Given the description of an element on the screen output the (x, y) to click on. 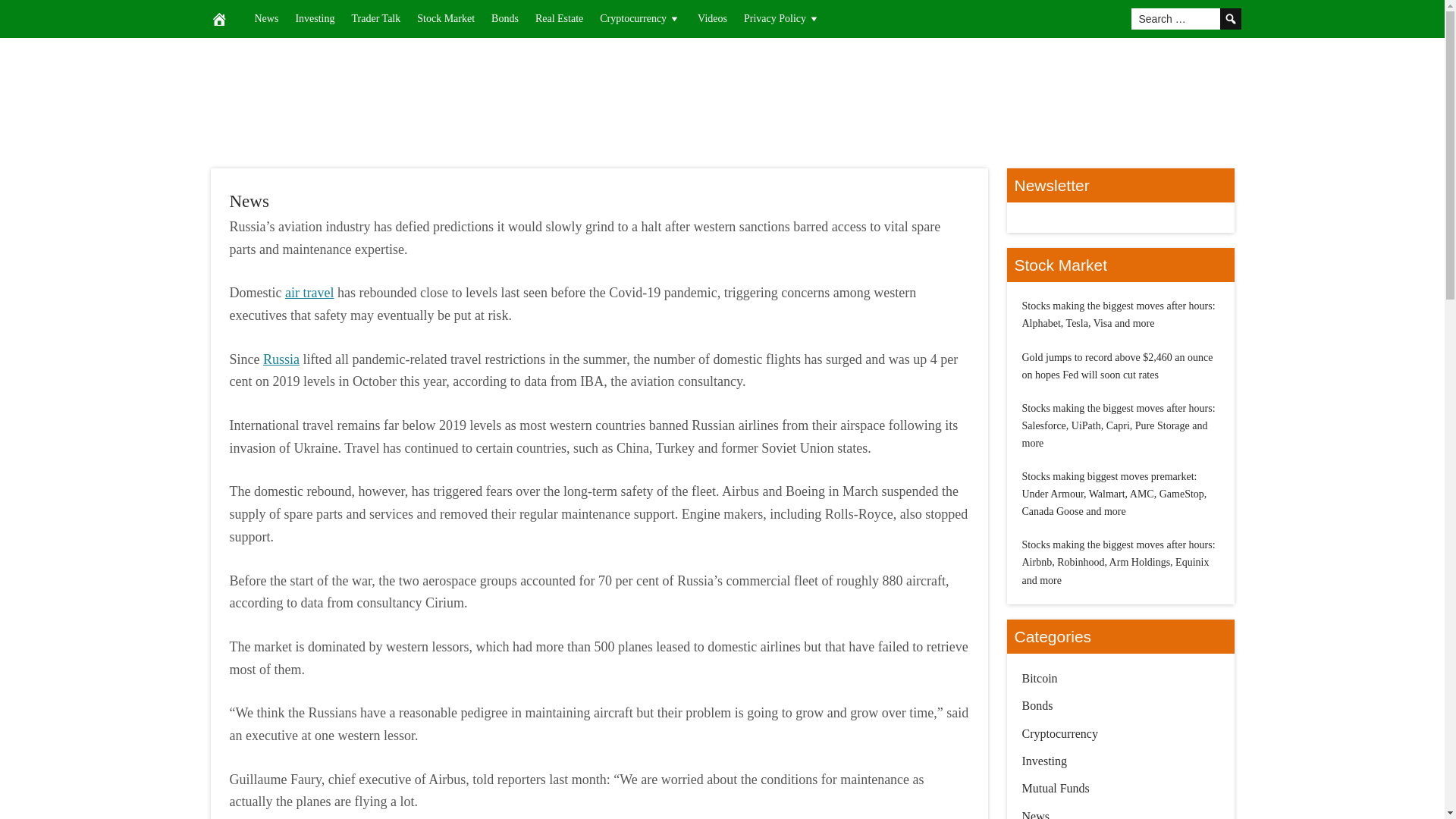
Trader Talk (375, 18)
News (247, 200)
Cryptocurrency (639, 18)
Bonds (505, 18)
Stock Market (446, 18)
Real Estate (559, 18)
Videos (711, 18)
News (247, 200)
Russia (281, 359)
Investing (314, 18)
air travel (309, 292)
Privacy Policy (781, 18)
News (266, 18)
